Given the description of an element on the screen output the (x, y) to click on. 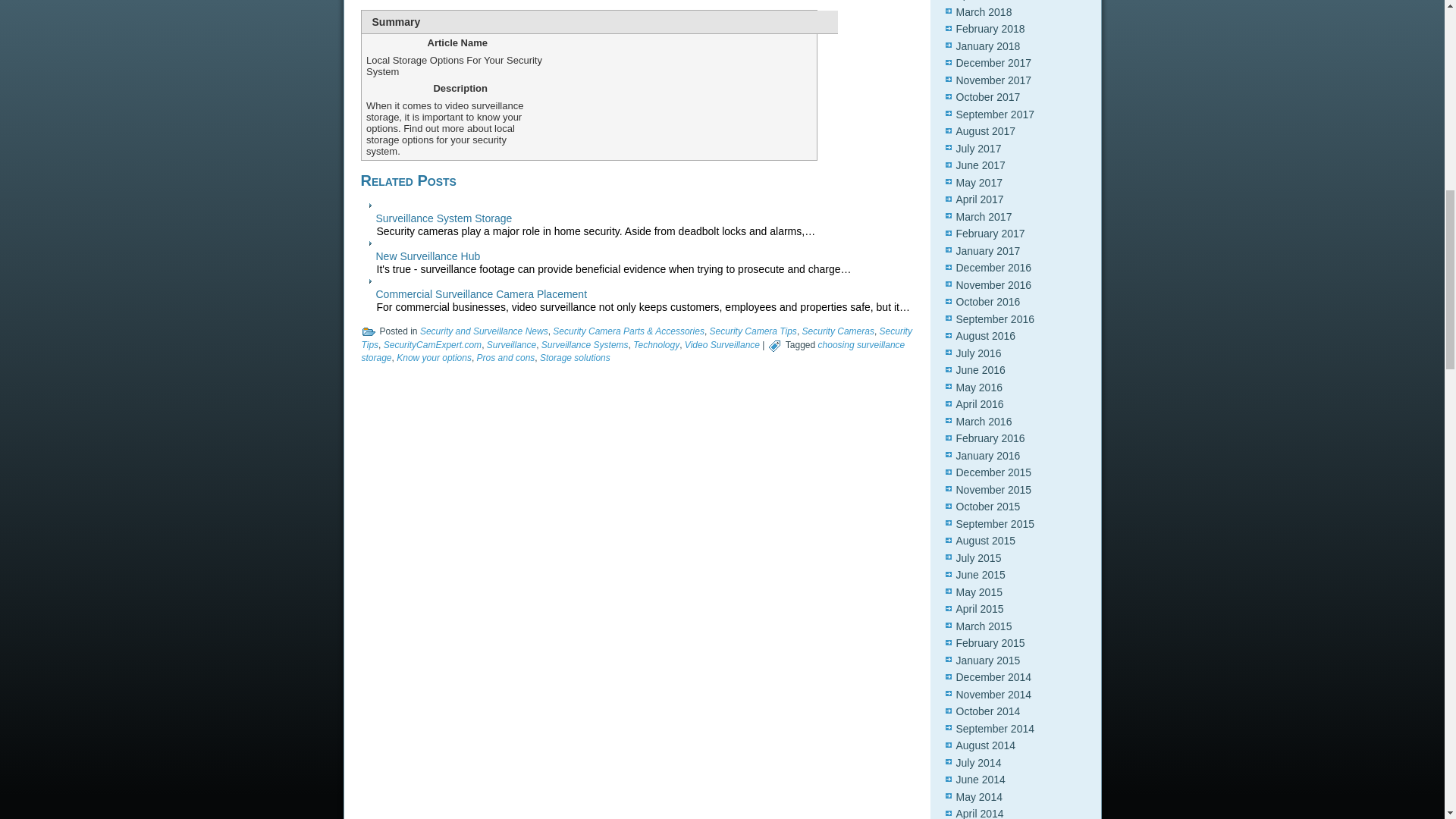
Pinterest (402, 1)
Storage solutions (575, 357)
Surveillance System Storage (443, 218)
Video Surveillance (722, 344)
Surveillance Systems (584, 344)
Surveillance (510, 344)
Security Tips (636, 337)
choosing surveillance storage (632, 351)
Security Cameras (838, 330)
New Surveillance Hub (427, 256)
